Given the description of an element on the screen output the (x, y) to click on. 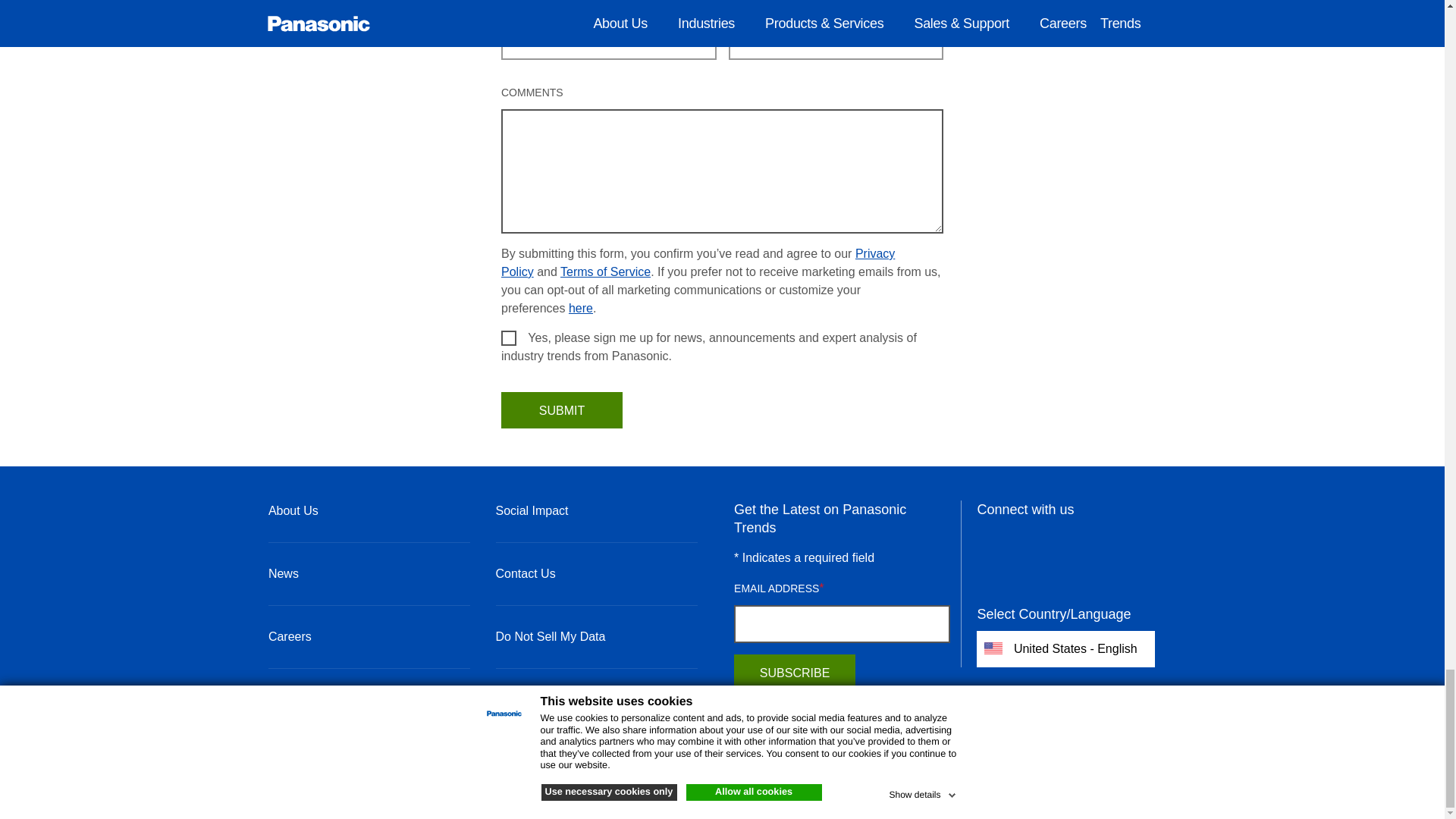
SUBSCRIBE (794, 672)
Submit (561, 410)
